Given the description of an element on the screen output the (x, y) to click on. 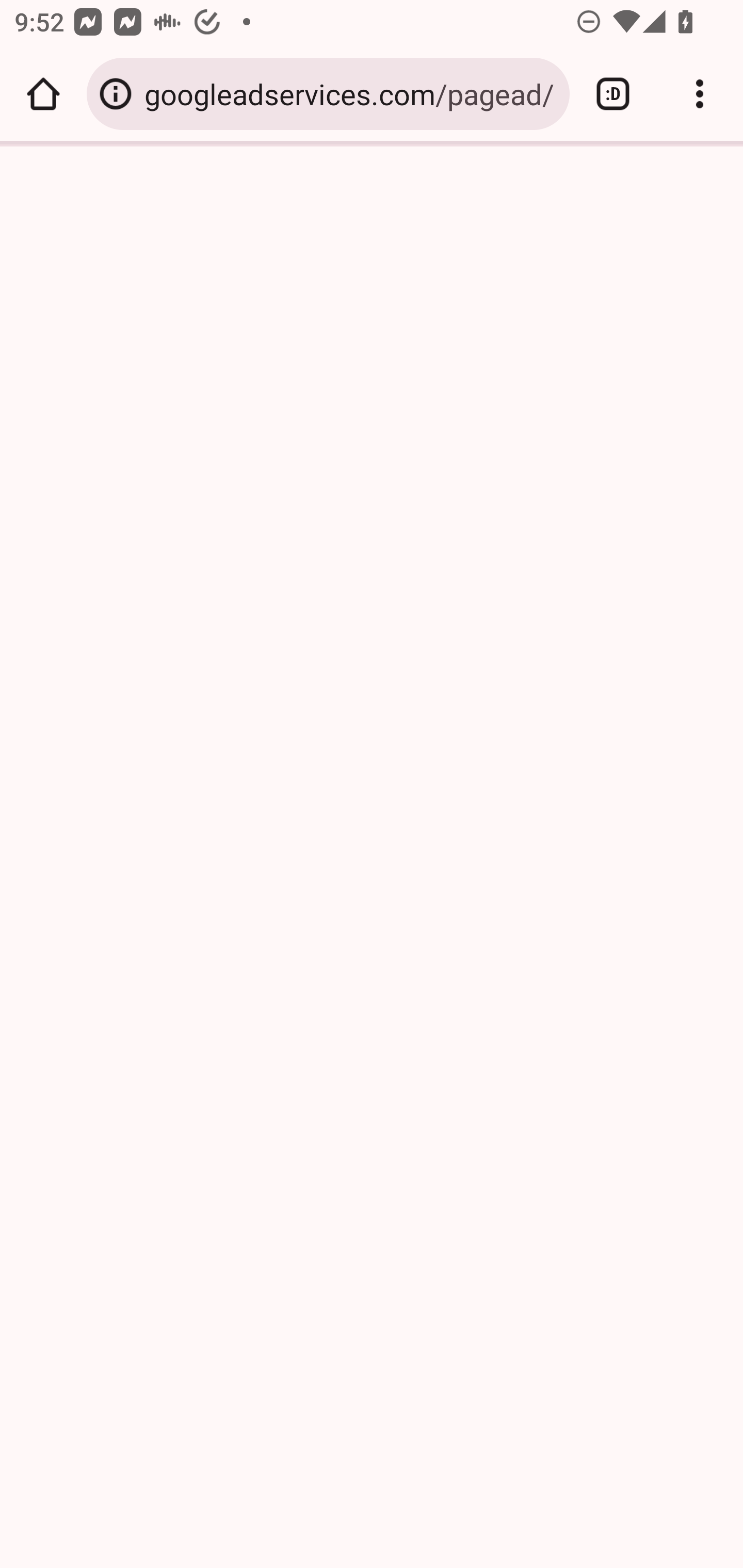
Open the home page (43, 93)
Your connection to this site is not secure (115, 93)
Switch or close tabs (612, 93)
Customize and control Google Chrome (699, 93)
